Given the description of an element on the screen output the (x, y) to click on. 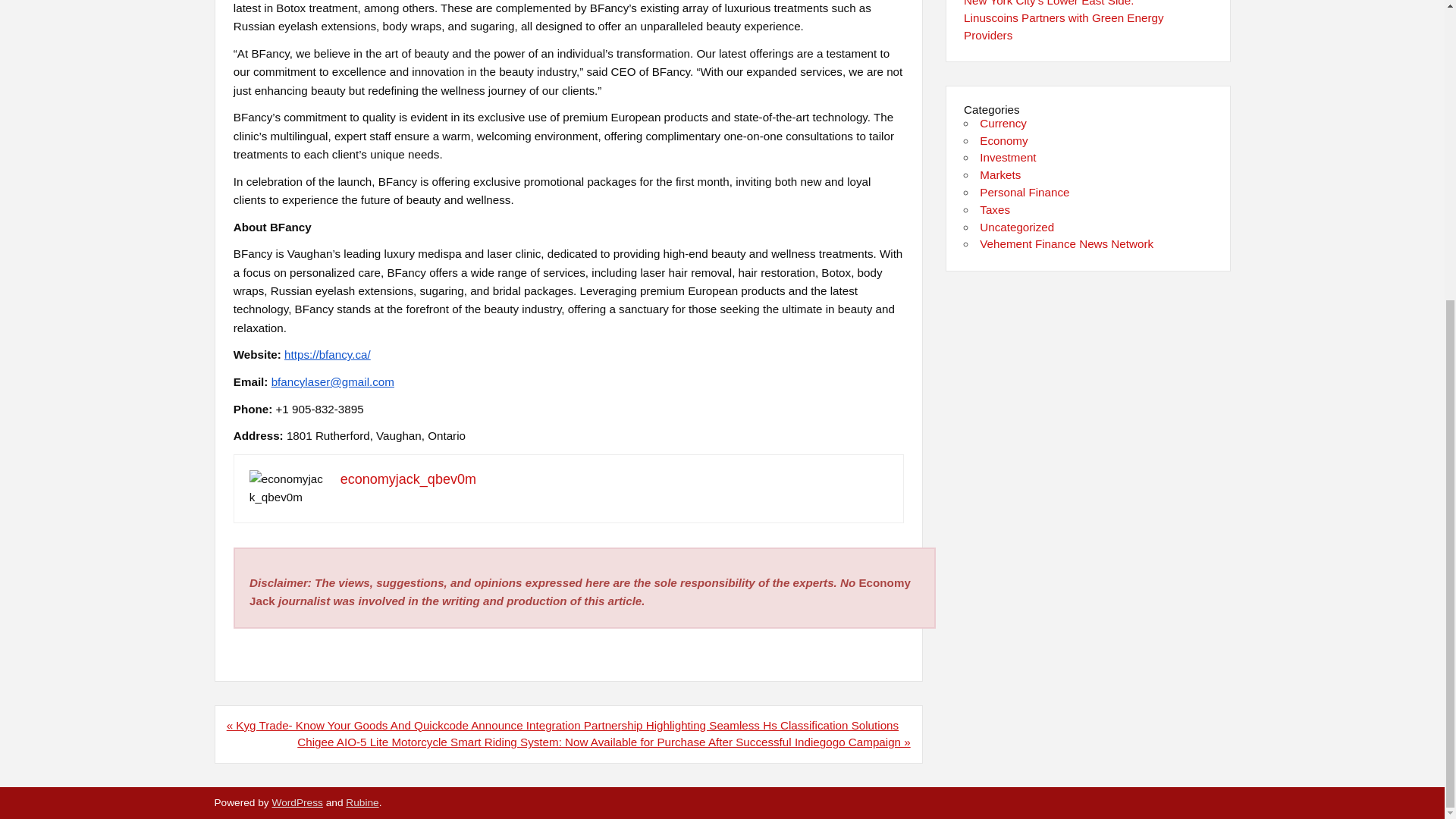
Personal Finance (1023, 192)
Rubine WordPress Theme (362, 802)
WordPress (295, 802)
Uncategorized (1016, 226)
Investment (1007, 156)
Economy (1003, 140)
Markets (999, 174)
Currency (1002, 123)
Linuscoins Partners with Green Energy Providers (1063, 26)
Vehement Finance News Network (1066, 243)
Taxes (994, 209)
WordPress (295, 802)
